Given the description of an element on the screen output the (x, y) to click on. 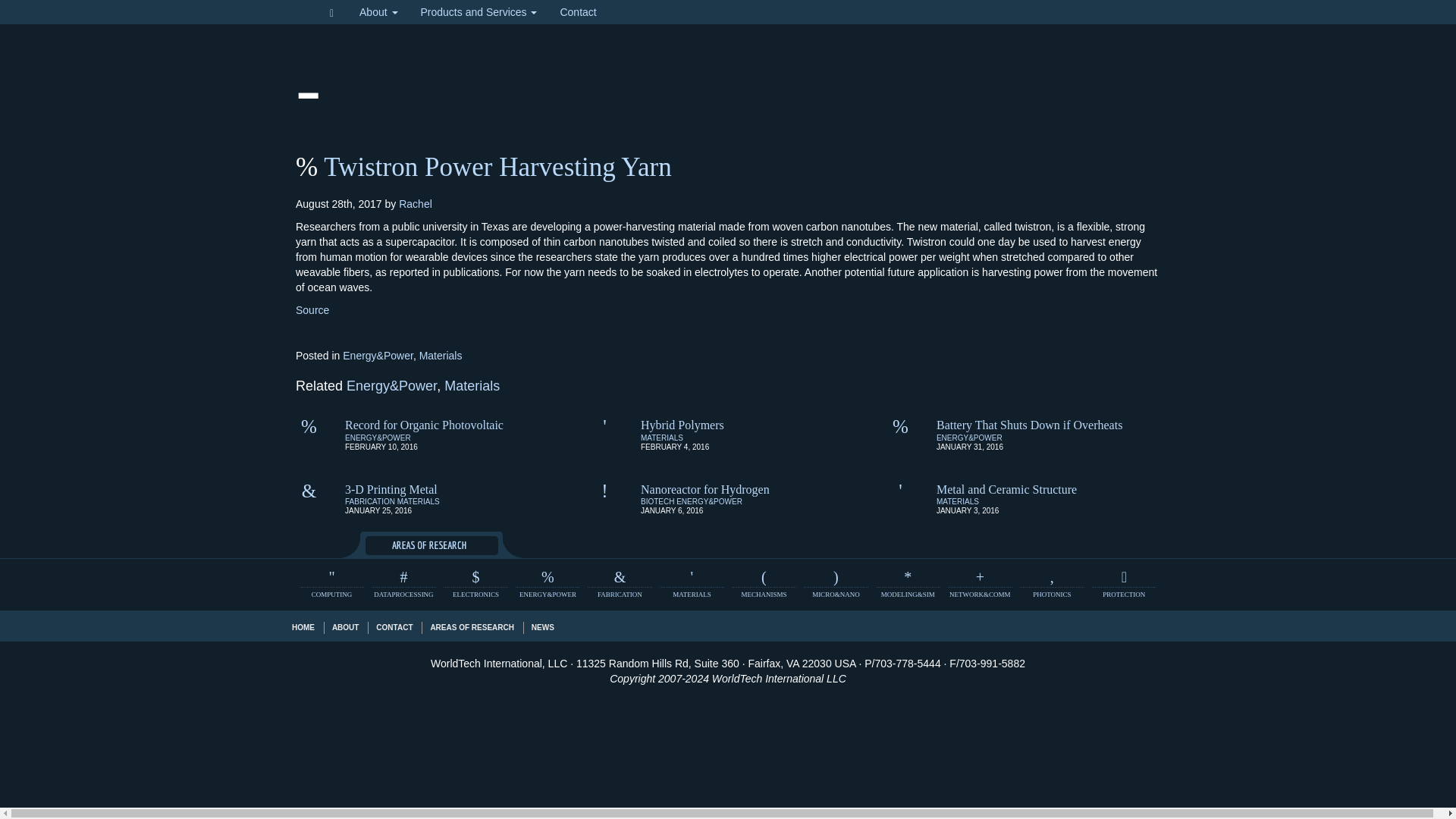
BIOTECH (657, 501)
Products and Services (478, 11)
FABRICATION (369, 501)
Battery That Shuts Down if Overheats (1029, 424)
3-D Printing Metal (391, 488)
Source (312, 309)
Nanoreactor for Hydrogen (705, 488)
About (378, 11)
Materials (471, 385)
Metal and Ceramic Structure (1006, 488)
About (378, 11)
Permanent Link to Twistron Power Harvesting Yarn (497, 166)
Hybrid Polymers (681, 424)
